Given the description of an element on the screen output the (x, y) to click on. 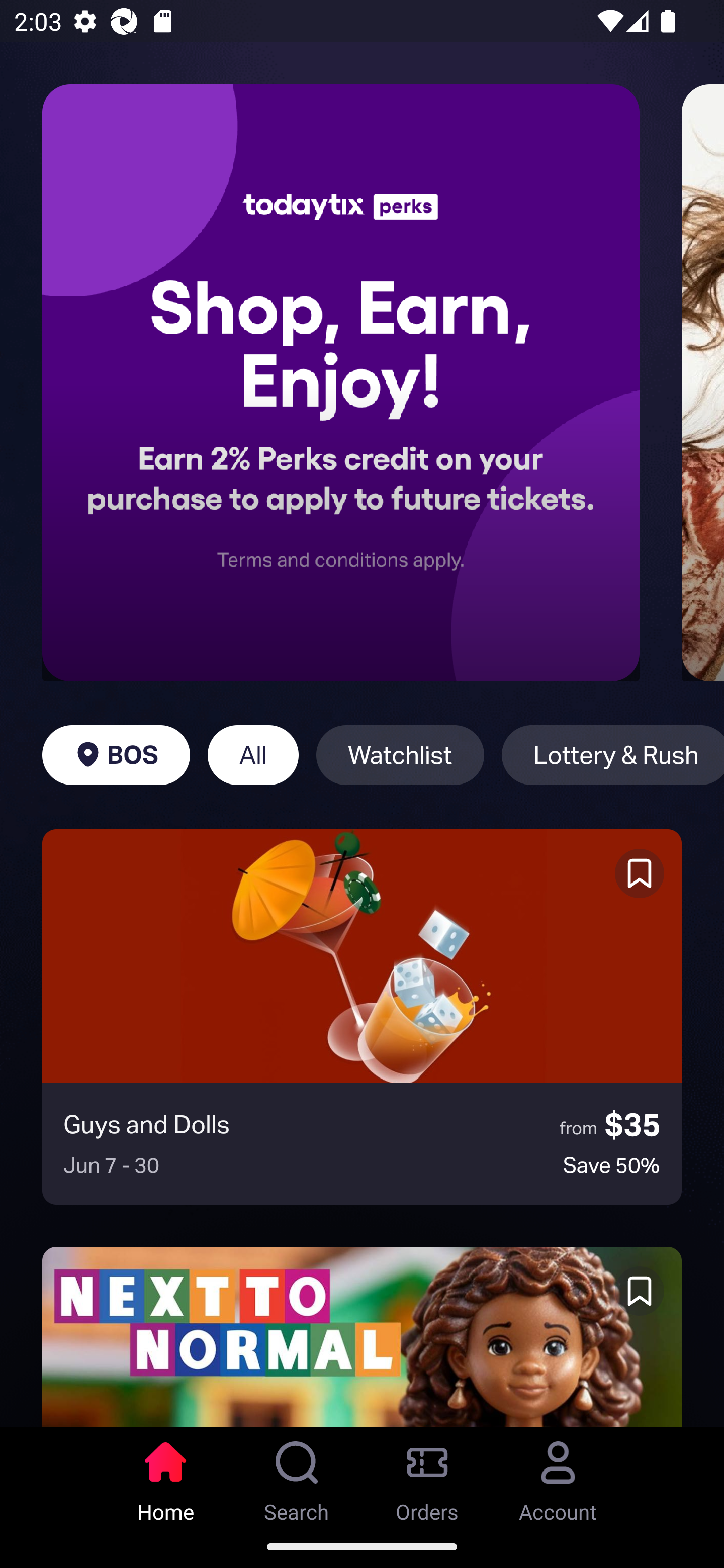
BOS (115, 754)
All (252, 754)
Watchlist (400, 754)
Lottery & Rush (612, 754)
Guys and Dolls from $35 Jun 7 - 30 Save 50% (361, 1016)
Search (296, 1475)
Orders (427, 1475)
Account (558, 1475)
